Given the description of an element on the screen output the (x, y) to click on. 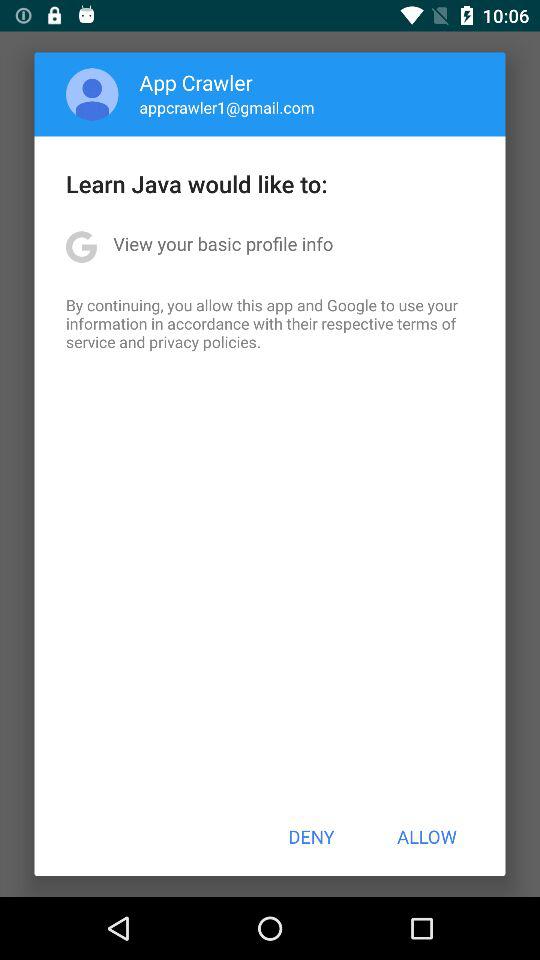
jump to appcrawler1@gmail.com (226, 107)
